Given the description of an element on the screen output the (x, y) to click on. 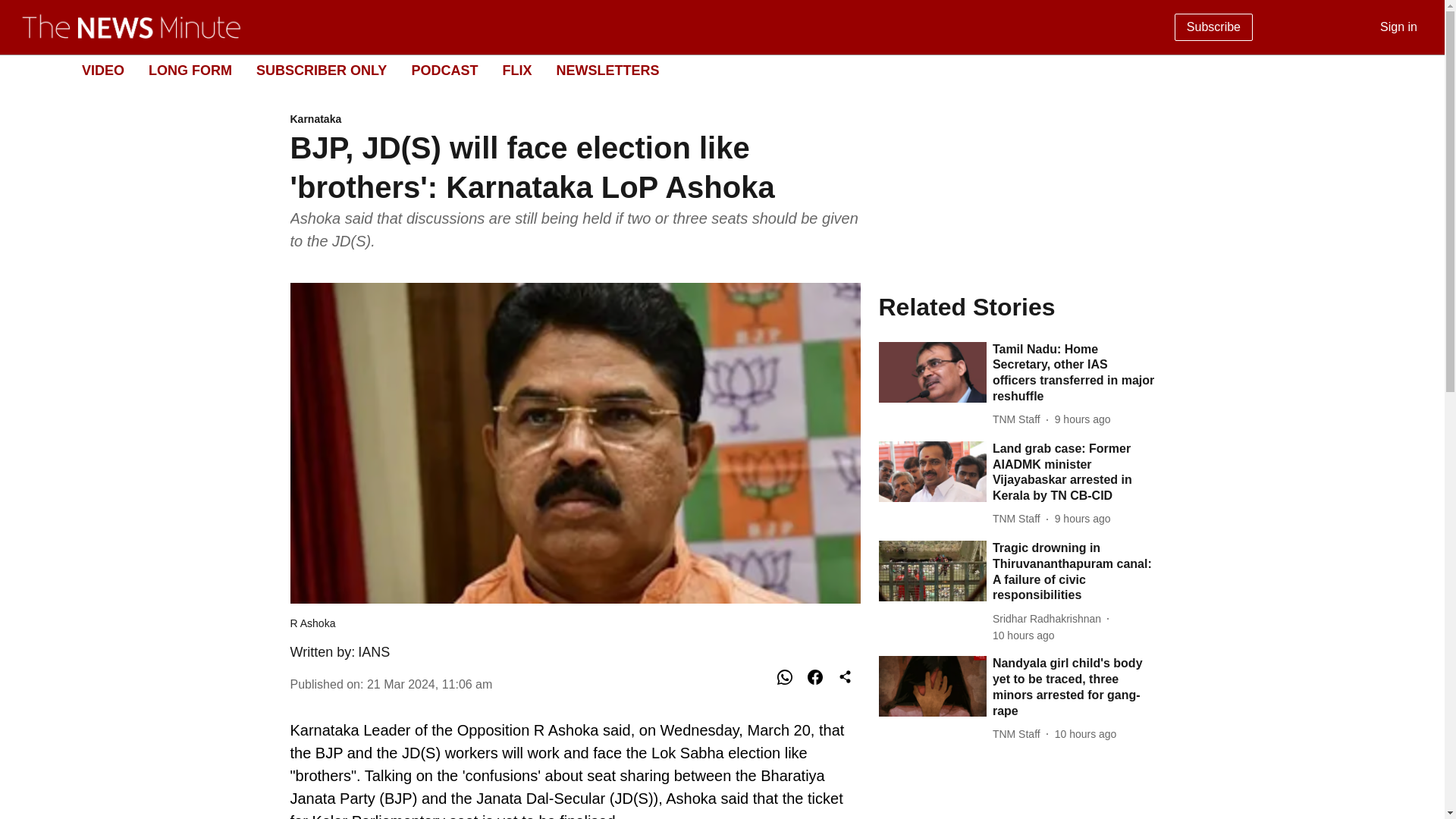
TNM Staff (1019, 419)
FLIX (516, 70)
VIDEO (102, 70)
TNM Staff (709, 70)
LONG FORM (1019, 519)
Sridhar Radhakrishnan (189, 70)
2024-07-16 13:33 (1049, 618)
SUBSCRIBER ONLY (1082, 419)
2024-07-16 12:59 (321, 70)
Dark Mode (1023, 635)
NEWSLETTERS (1415, 70)
2024-07-16 12:42 (607, 70)
IANS (1085, 734)
